Given the description of an element on the screen output the (x, y) to click on. 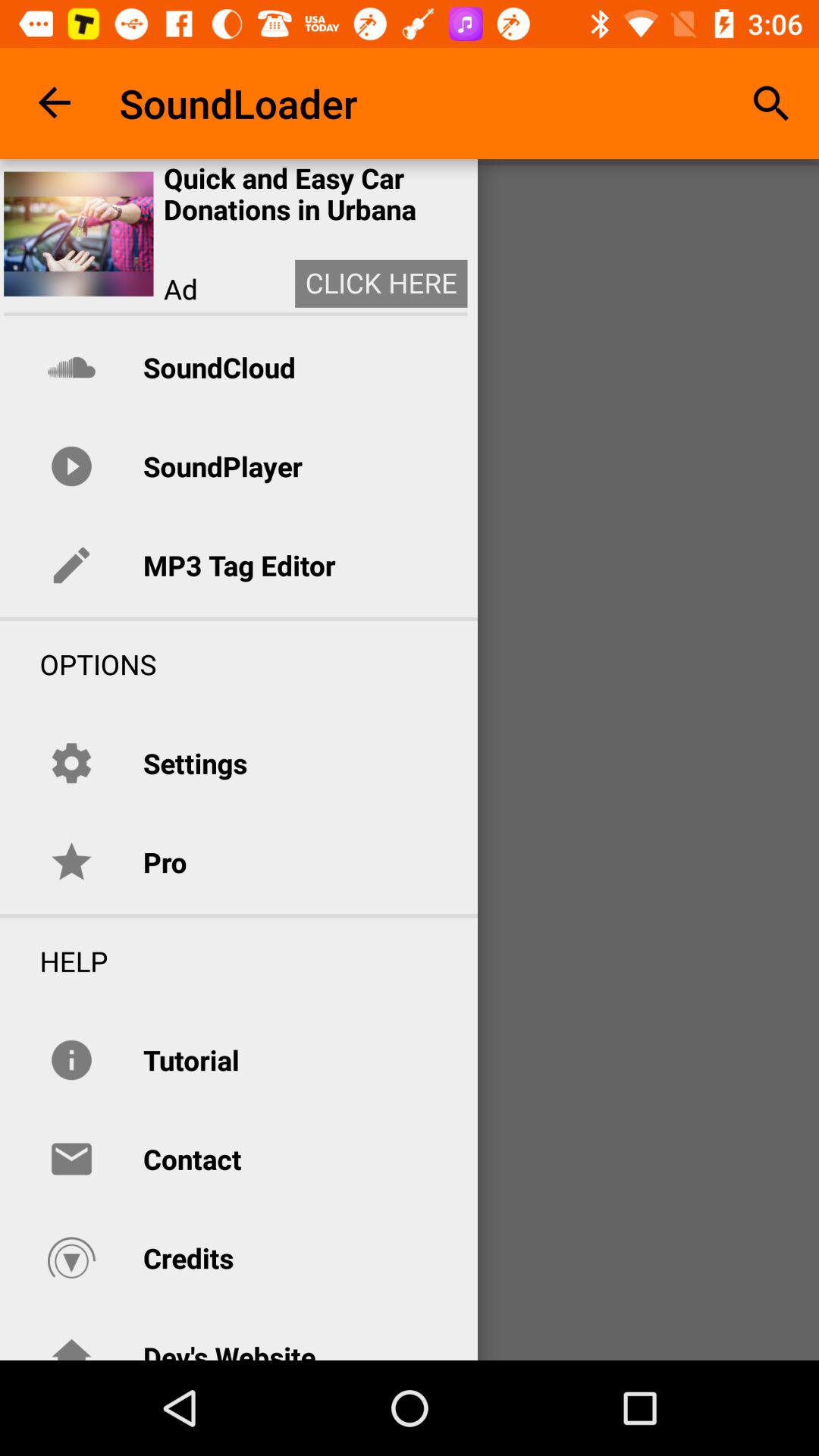
flip to soundplayer item (222, 466)
